Given the description of an element on the screen output the (x, y) to click on. 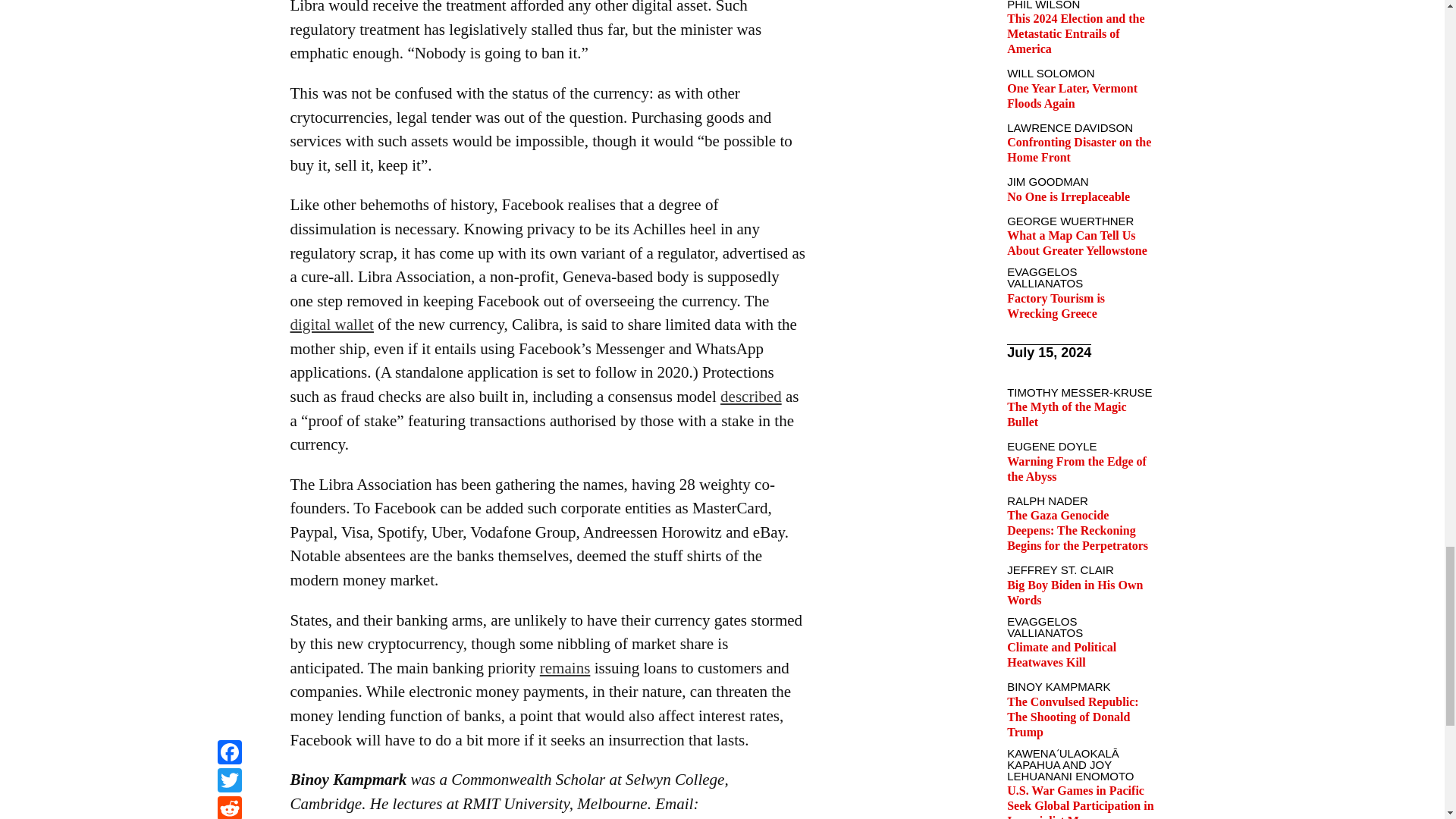
described (750, 396)
digital wallet (330, 324)
remains (565, 668)
